Given the description of an element on the screen output the (x, y) to click on. 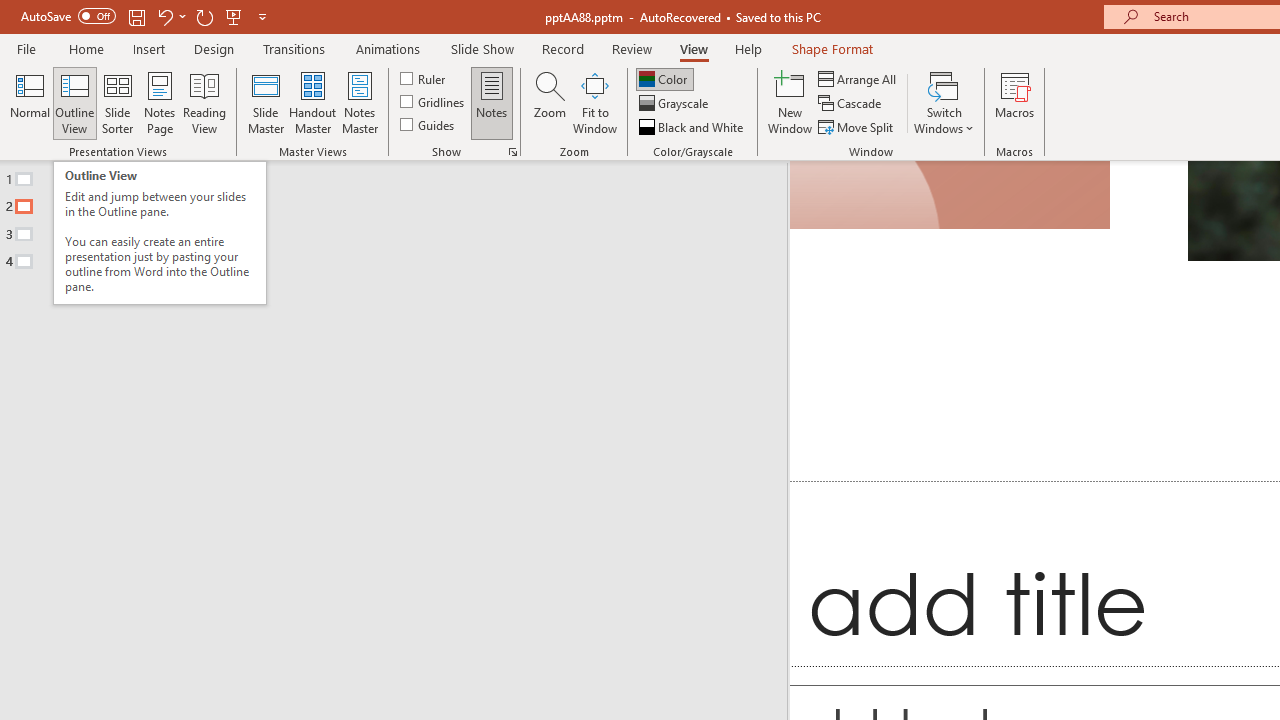
Gridlines (433, 101)
Cascade (851, 103)
Notes Page (159, 102)
Fit to Window (594, 102)
Macros (1014, 102)
Black and White (693, 126)
Outline View (74, 102)
Camera 13, No camera detected. (950, 195)
